Given the description of an element on the screen output the (x, y) to click on. 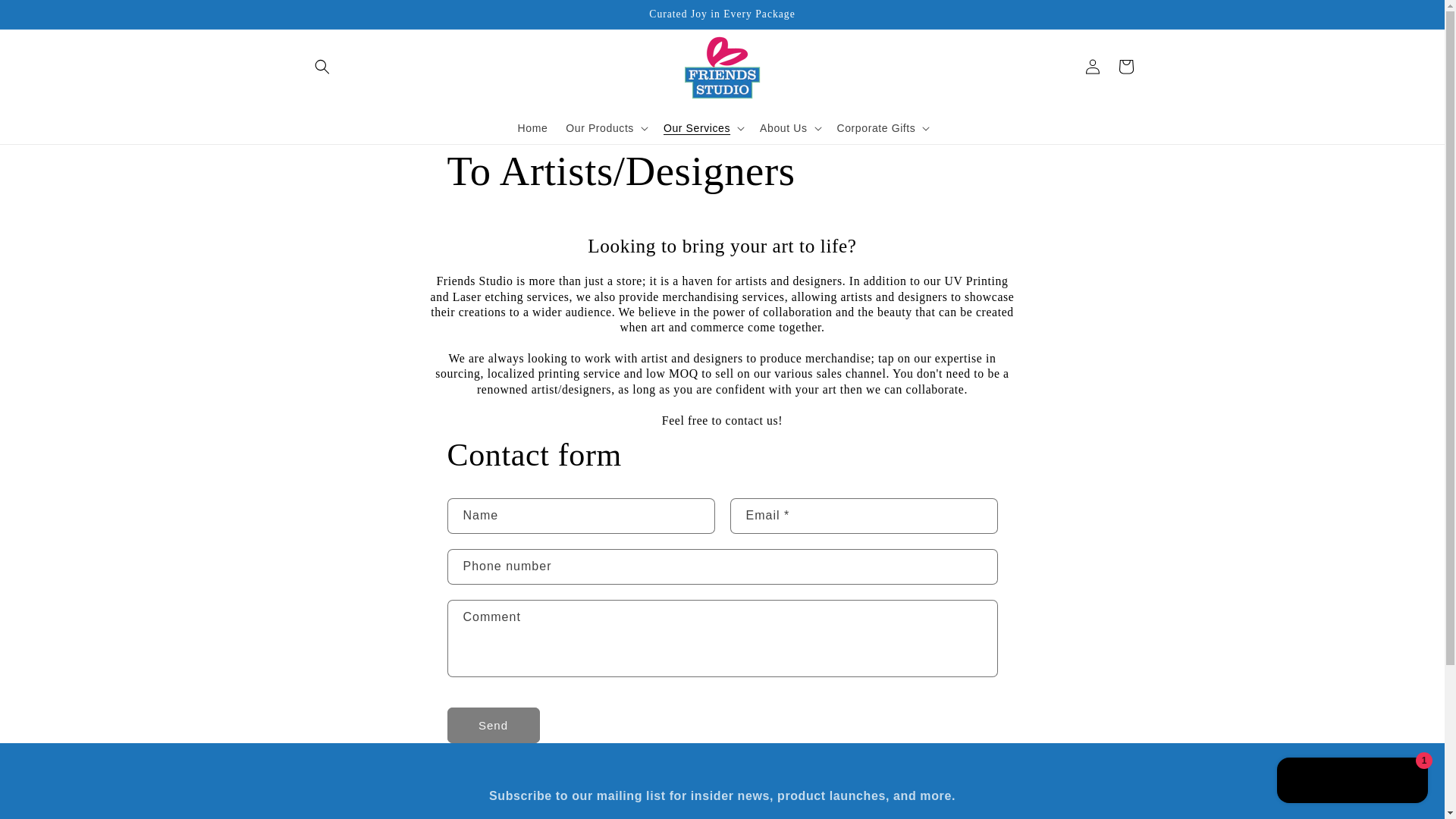
Shopify online store chat (1352, 781)
Skip to content (45, 17)
Home (532, 128)
